Given the description of an element on the screen output the (x, y) to click on. 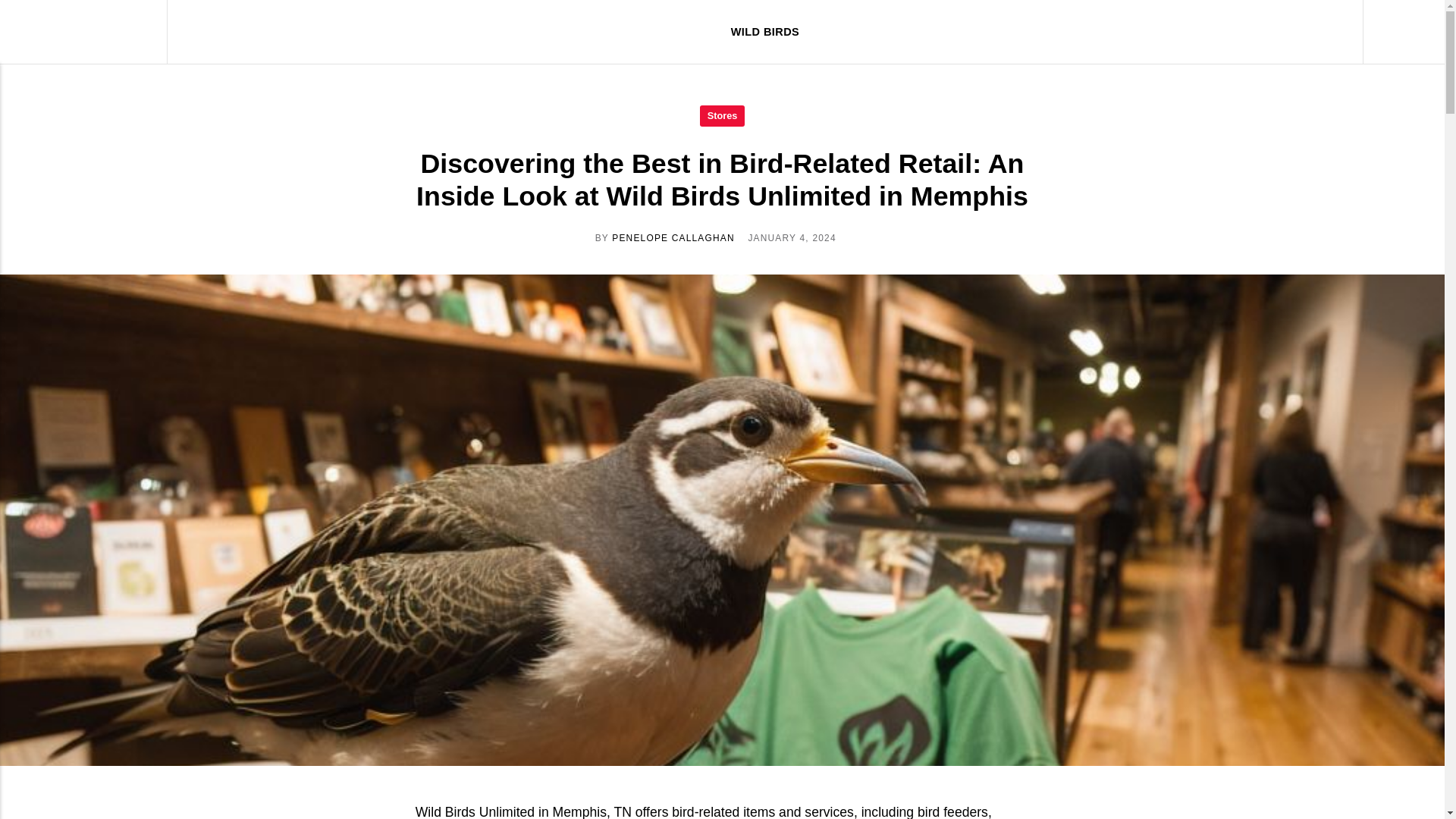
PENELOPE CALLAGHAN (673, 237)
Wild Birds (94, 32)
WILD BIRDS (764, 31)
Stores (722, 115)
